Given the description of an element on the screen output the (x, y) to click on. 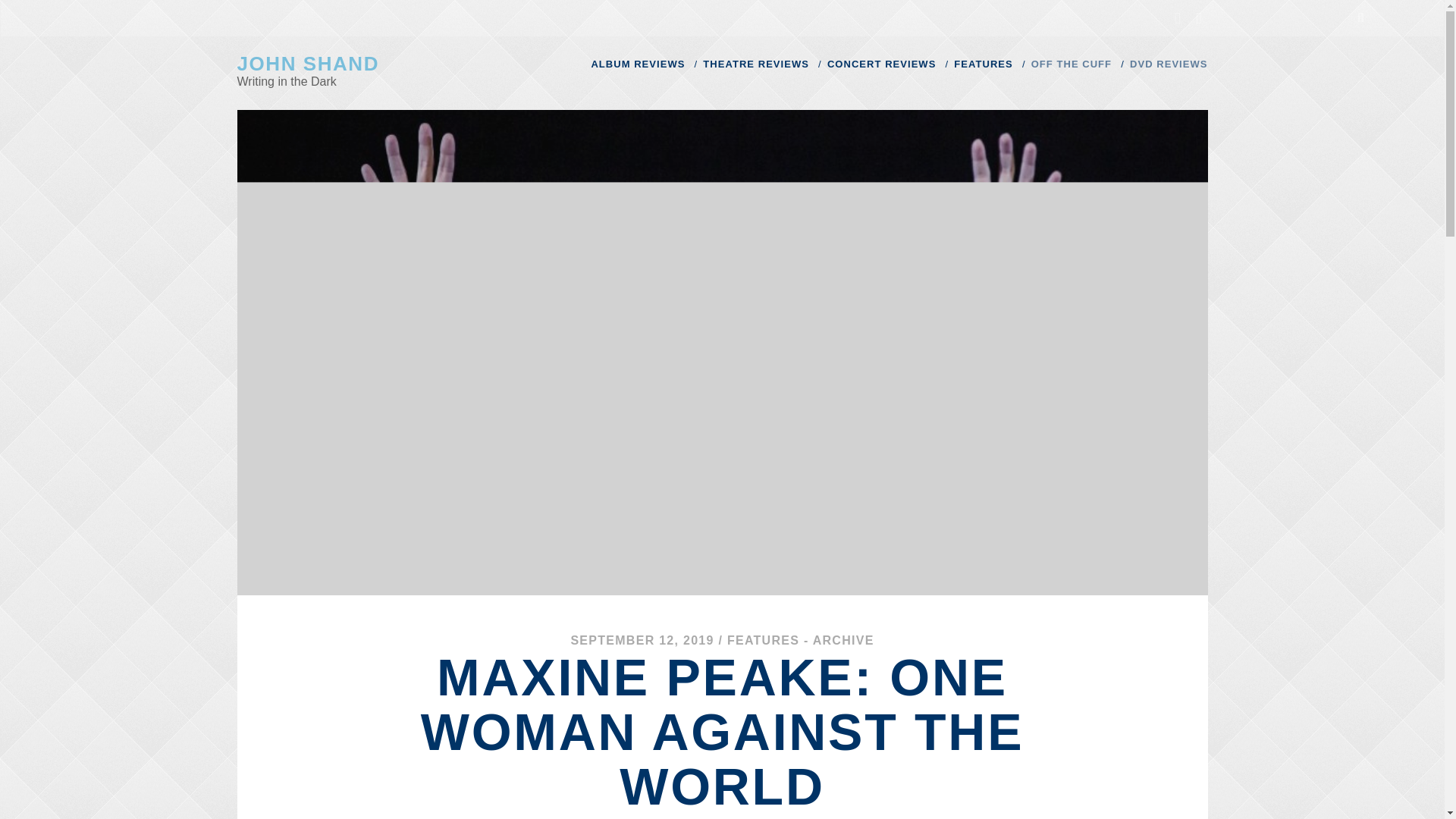
ALBUM REVIEWS (637, 64)
OFF THE CUFF (1071, 64)
JOHN SHAND (306, 63)
CONCERT REVIEWS (881, 64)
FEATURES (982, 64)
THEATRE REVIEWS (756, 64)
FEATURES - ARCHIVE (800, 640)
DVD REVIEWS (1168, 64)
